Given the description of an element on the screen output the (x, y) to click on. 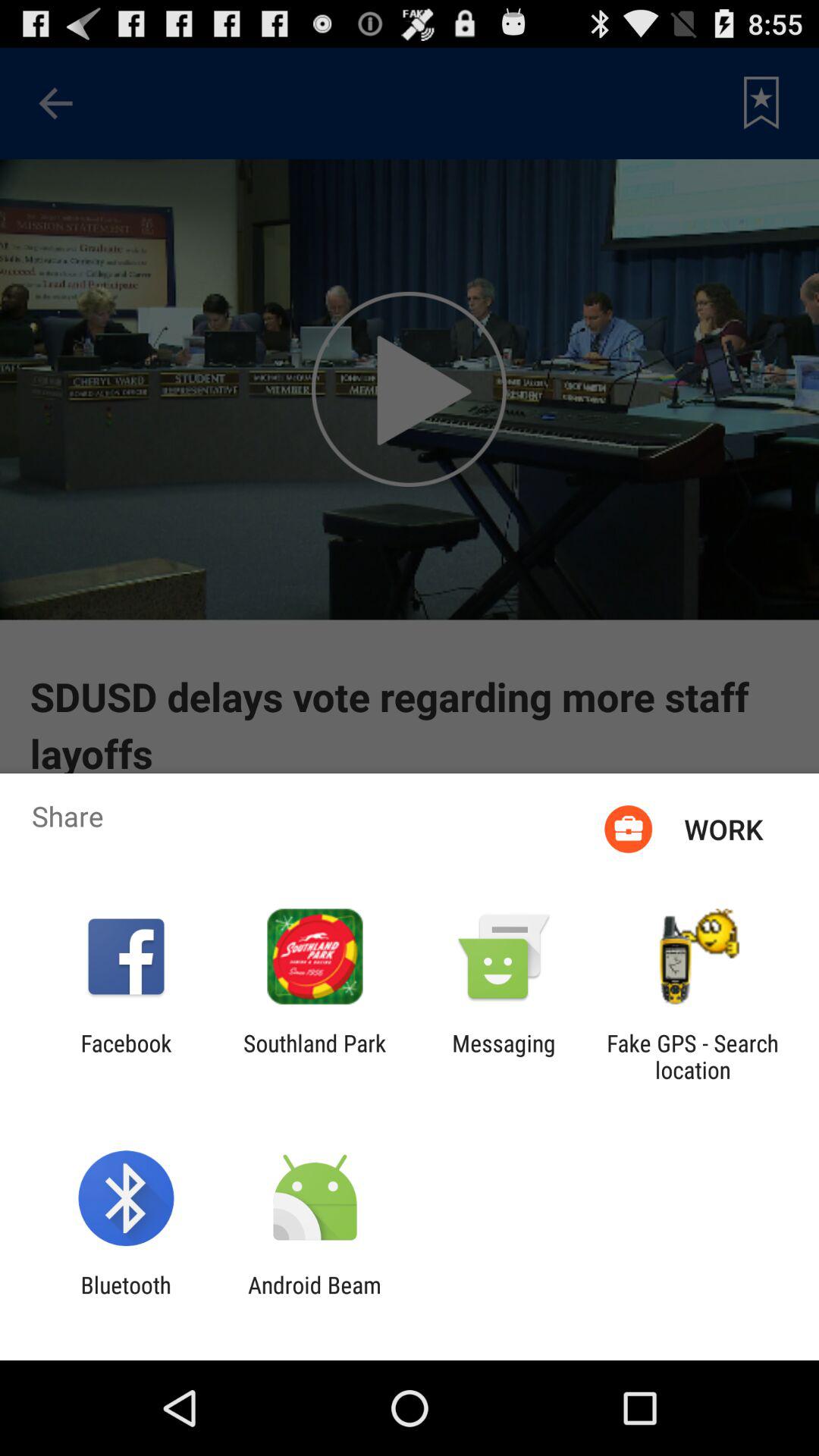
launch android beam item (314, 1298)
